Given the description of an element on the screen output the (x, y) to click on. 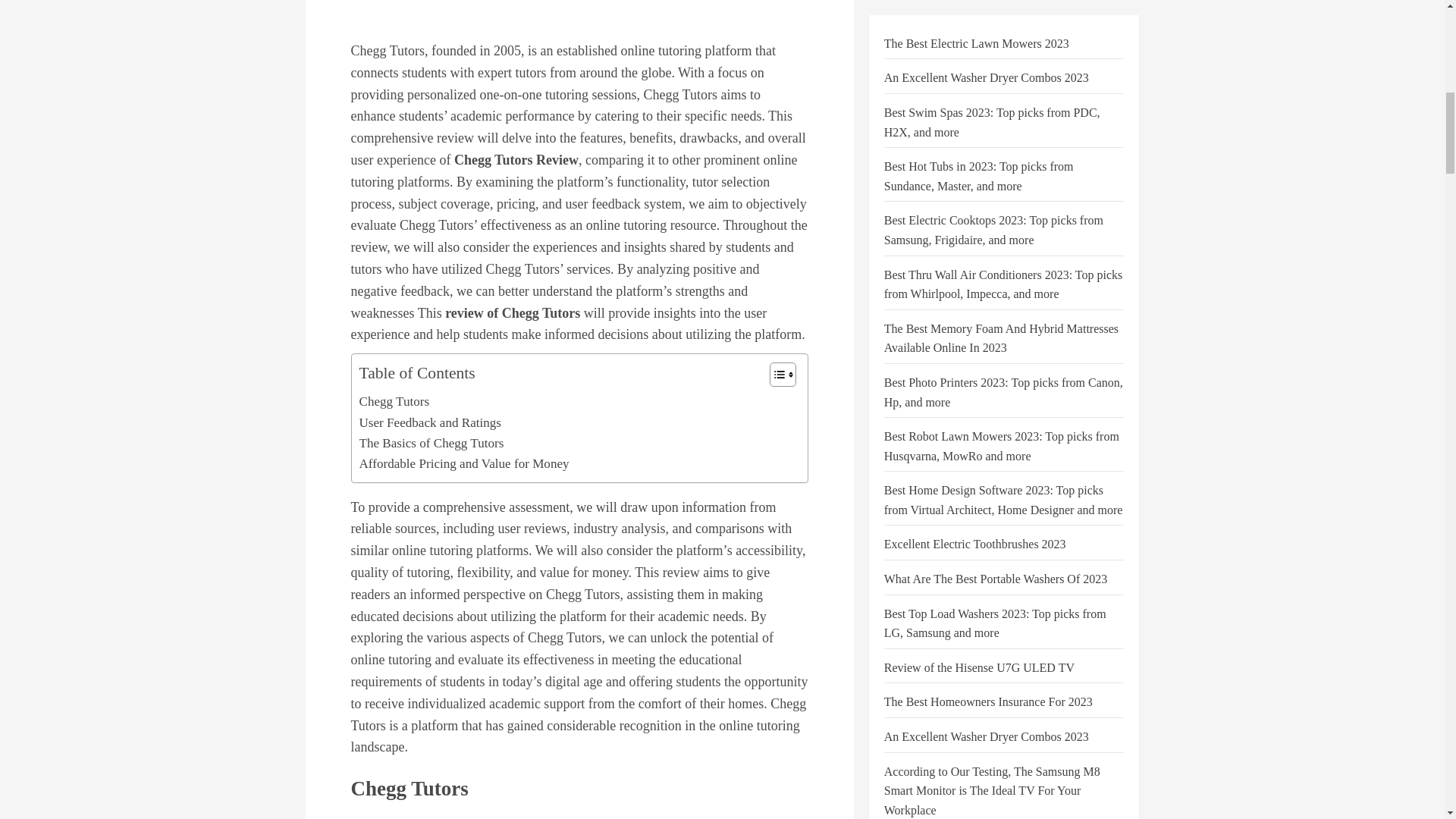
Affordable Pricing and Value for Money (464, 463)
User Feedback and Ratings (430, 422)
Chegg Tutors (394, 401)
The Basics of Chegg Tutors (431, 443)
The Basics of Chegg Tutors (431, 443)
User Feedback and Ratings (430, 422)
Chegg Tutors (394, 401)
Affordable Pricing and Value for Money (464, 463)
